Given the description of an element on the screen output the (x, y) to click on. 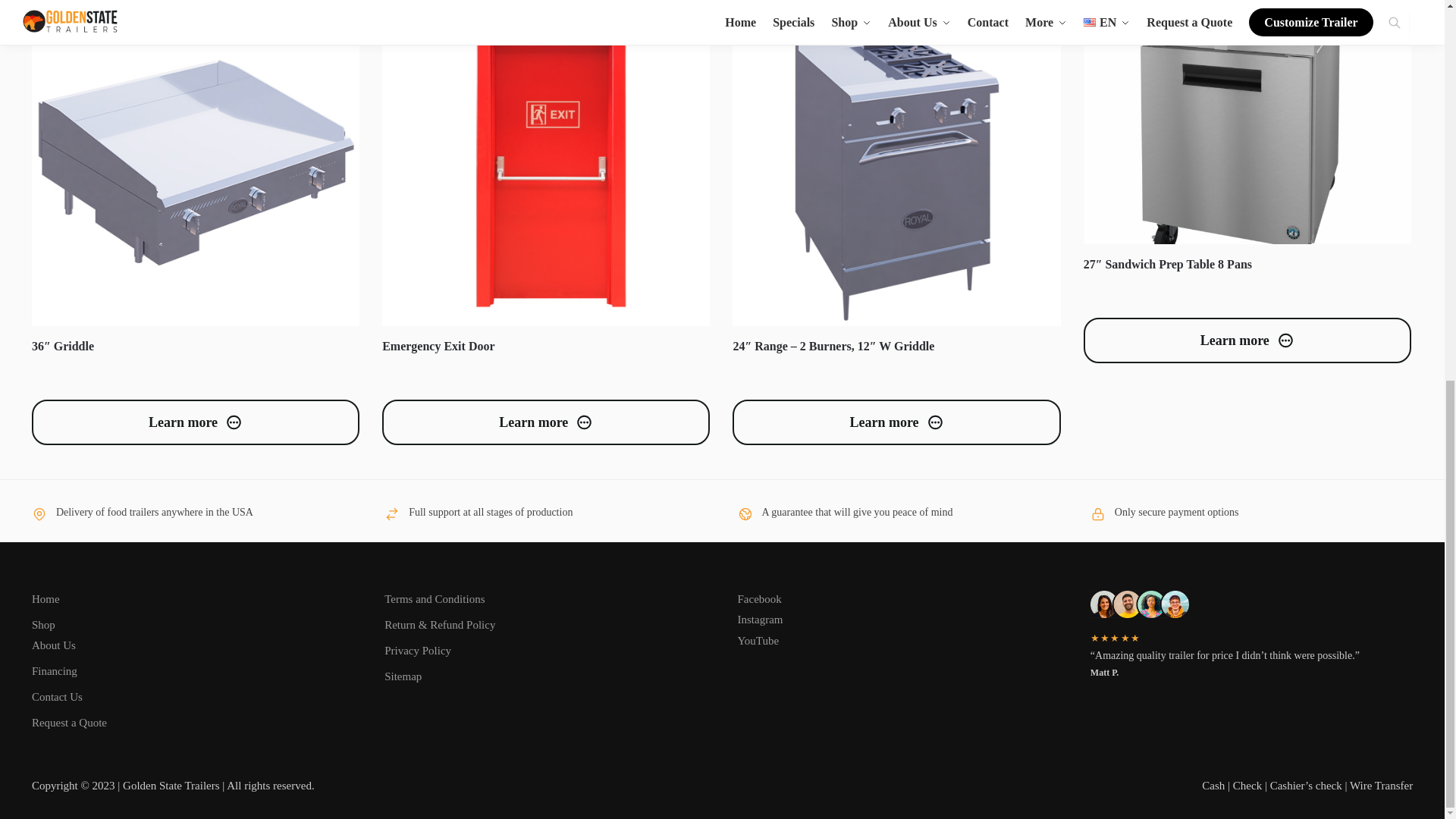
Emergency Exit Door (545, 162)
